Given the description of an element on the screen output the (x, y) to click on. 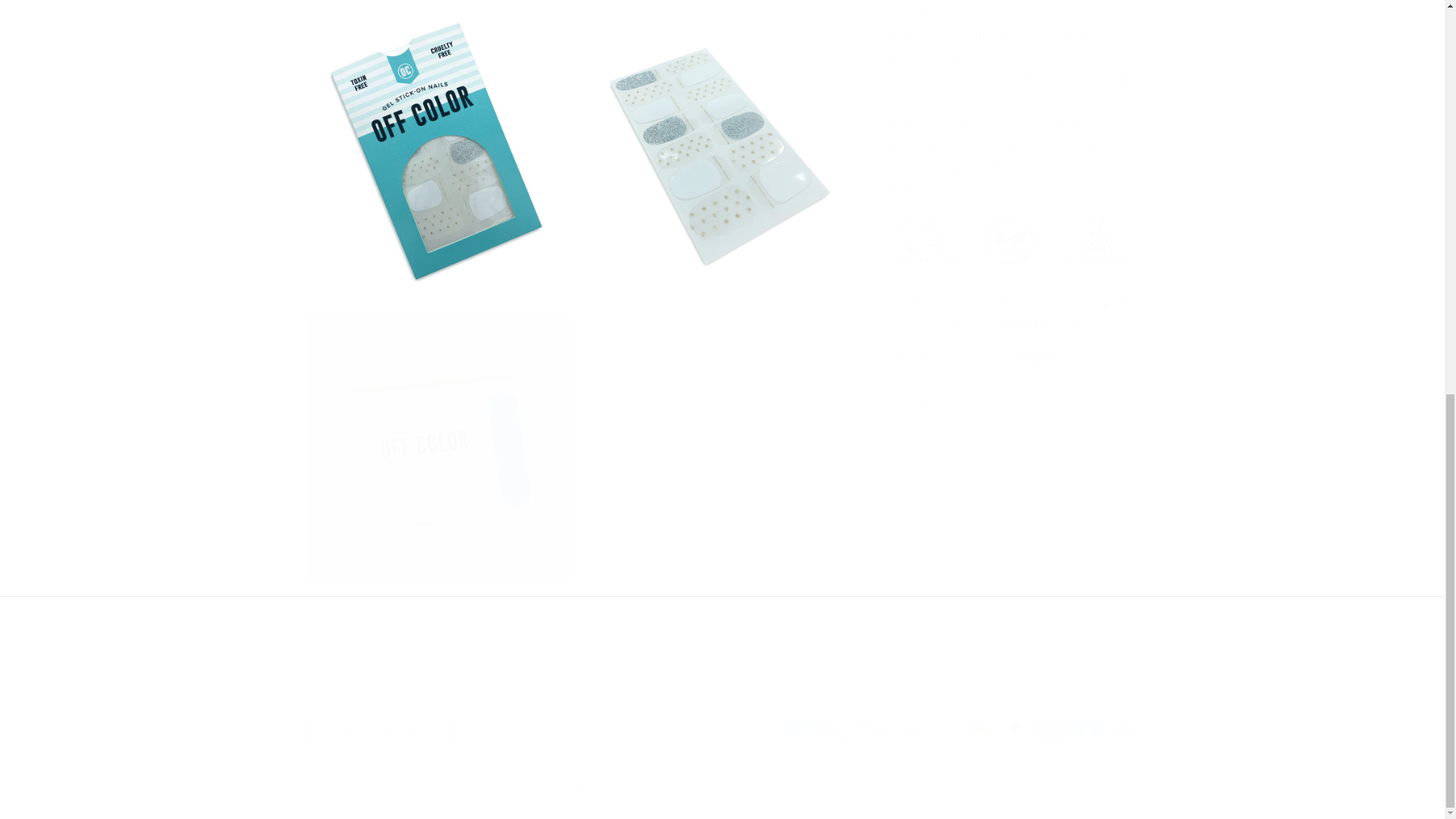
Open media 4 in modal (437, 448)
Powered by Shopify (447, 786)
email (1038, 358)
Terms of service (685, 787)
How to (1026, 323)
Open media 2 in modal (437, 152)
Privacy policy (607, 787)
Refund policy (533, 787)
Off Color Nails (371, 786)
Open media 3 in modal (714, 152)
